Given the description of an element on the screen output the (x, y) to click on. 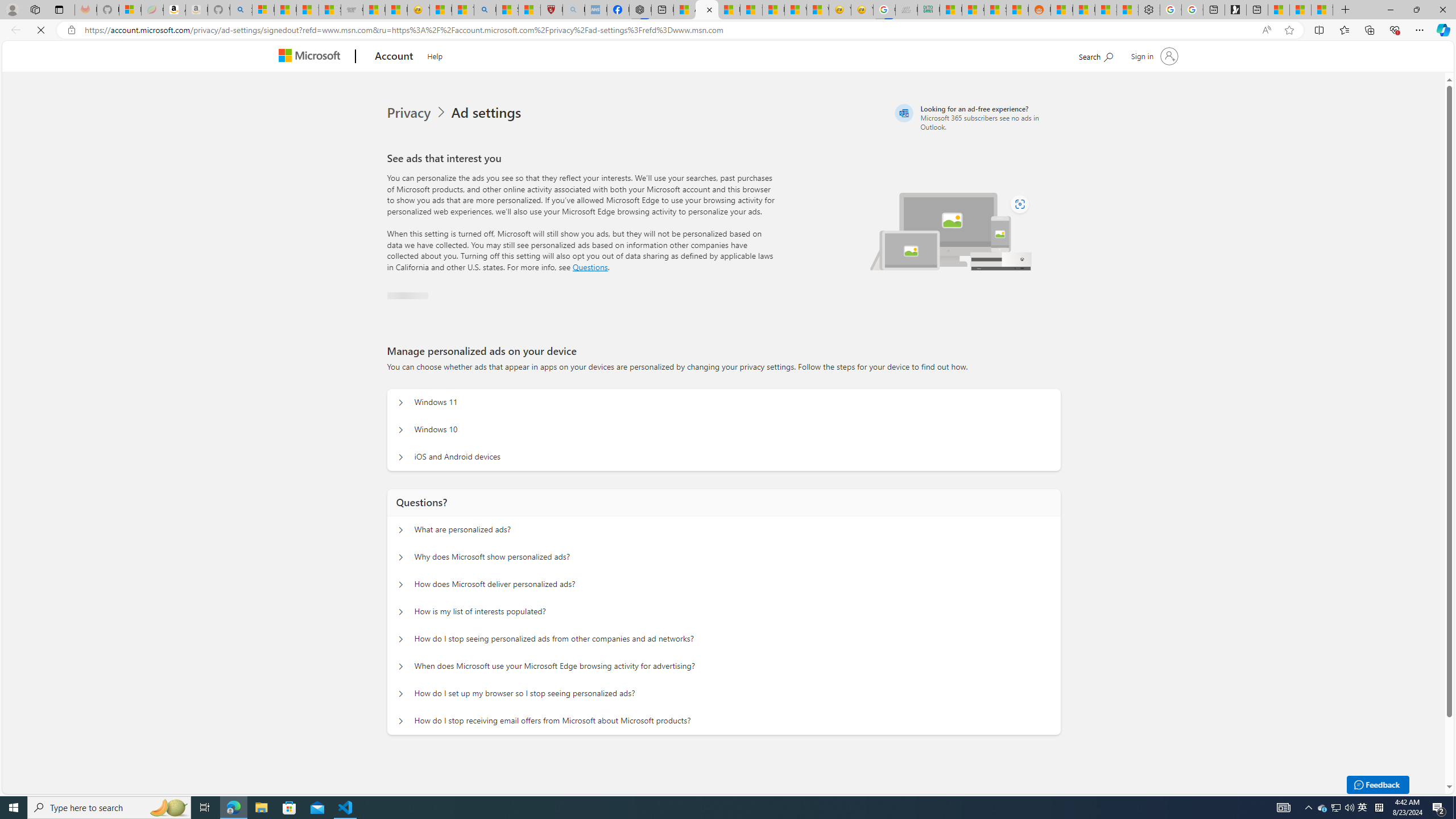
Robert H. Shmerling, MD - Harvard Health (551, 9)
Looking for an ad-free experience? (976, 117)
Manage personalized ads on your device Windows 11 (401, 402)
Bing (484, 9)
